Given the description of an element on the screen output the (x, y) to click on. 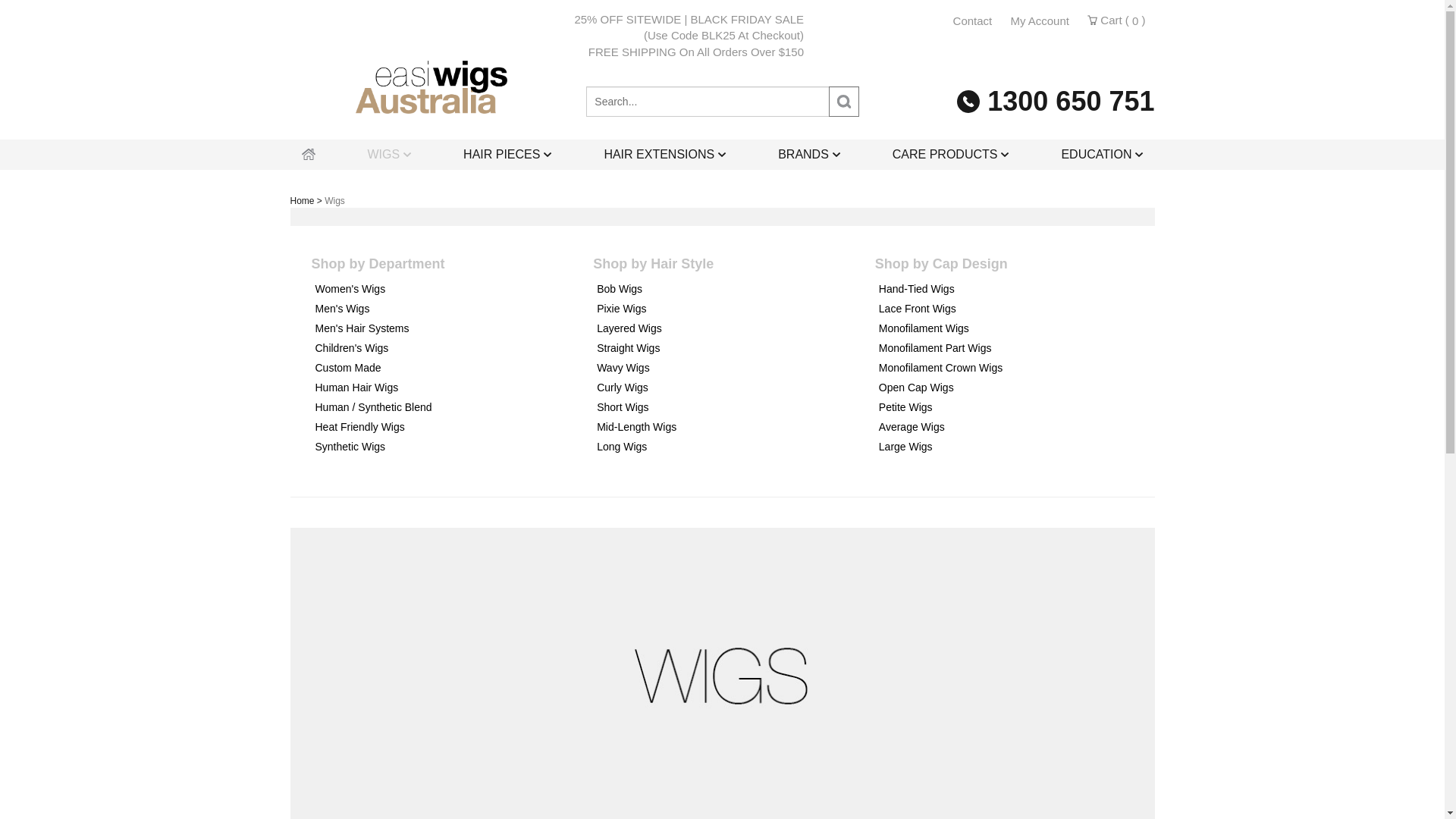
Layered Wigs Element type: text (731, 328)
25% OFF SITEWIDE | BLACK FRIDAY SALE Element type: text (546, 19)
www.easiwigs.com.au Element type: hover (430, 86)
WIGS Element type: text (388, 154)
Contact Element type: text (972, 20)
Pixie Wigs Element type: text (731, 308)
Human / Synthetic Blend Element type: text (449, 407)
Wavy Wigs Element type: text (731, 367)
BRANDS Element type: text (808, 154)
Large Wigs Element type: text (1013, 446)
Children's Wigs Element type: text (449, 347)
Short Wigs Element type: text (731, 407)
1300 650 751 Element type: text (1055, 100)
Hand-Tied Wigs Element type: text (1013, 288)
HAIR EXTENSIONS Element type: text (664, 154)
Cart ( 0 ) Element type: text (1116, 19)
Men's Hair Systems Element type: text (449, 328)
Heat Friendly Wigs Element type: text (449, 426)
CARE PRODUCTS Element type: text (950, 154)
Open Cap Wigs Element type: text (1013, 387)
Men's Wigs Element type: text (449, 308)
Human Hair Wigs Element type: text (449, 387)
FREE SHIPPING On All Orders Over $150 Element type: text (546, 51)
Monofilament Crown Wigs Element type: text (1013, 367)
Mid-Length Wigs Element type: text (731, 426)
Bob Wigs Element type: text (731, 288)
Straight Wigs Element type: text (731, 347)
Monofilament Wigs Element type: text (1013, 328)
Women's Wigs Element type: text (449, 288)
Long Wigs Element type: text (731, 446)
Synthetic Wigs Element type: text (449, 446)
Petite Wigs Element type: text (1013, 407)
Monofilament Part Wigs Element type: text (1013, 347)
HAIR PIECES Element type: text (506, 154)
Wigs Element type: text (334, 200)
Curly Wigs Element type: text (731, 387)
Average Wigs Element type: text (1013, 426)
Home Element type: text (301, 200)
Custom Made Element type: text (449, 367)
EDUCATION Element type: text (1101, 154)
Lace Front Wigs Element type: text (1013, 308)
(Use Code BLK25 At Checkout) Element type: text (546, 35)
